Given the description of an element on the screen output the (x, y) to click on. 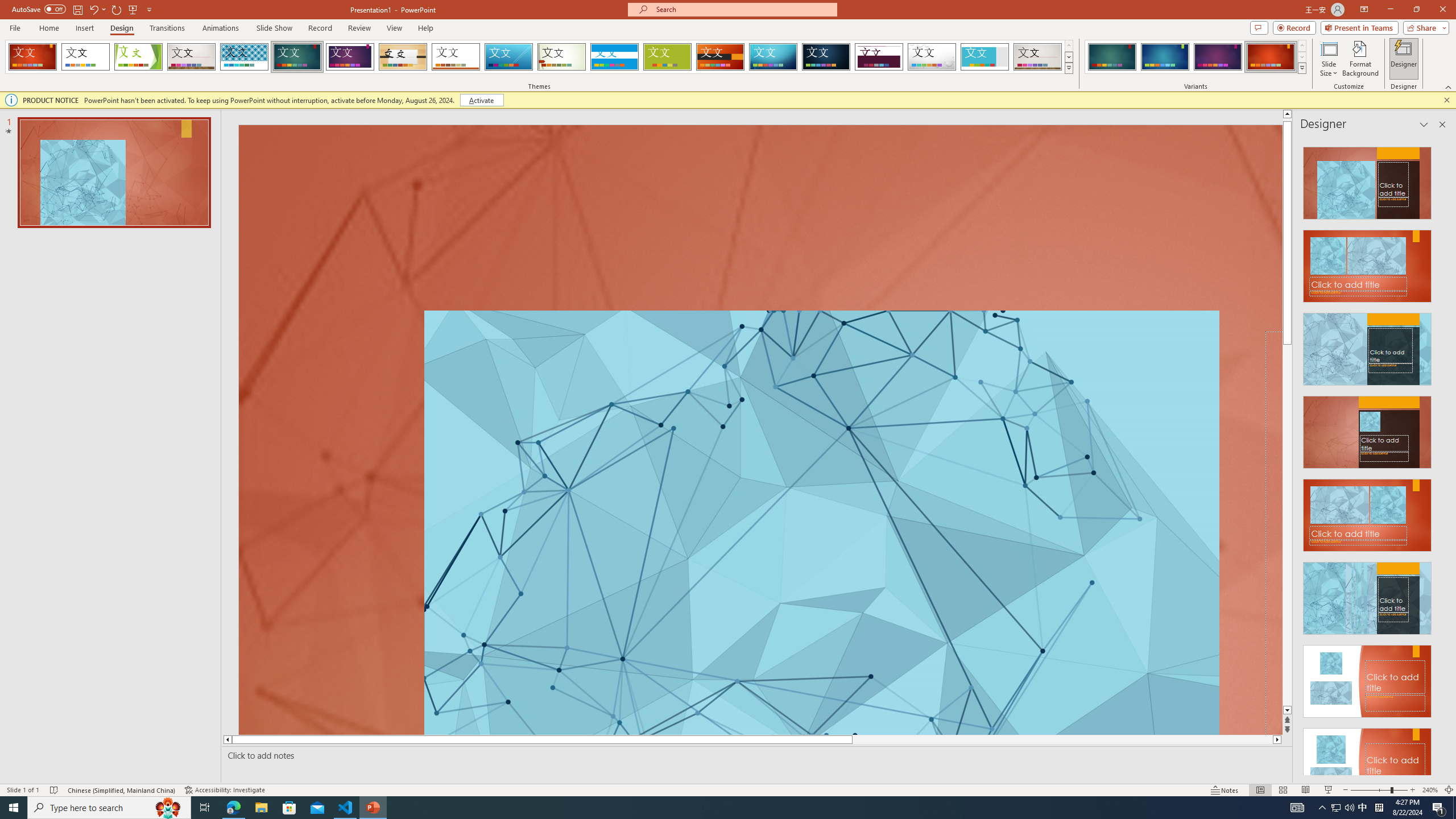
Ion (296, 56)
Slide Notes (754, 755)
Variants (1301, 67)
Recommended Design: Design Idea (1366, 179)
Damask (826, 56)
Slide Size (1328, 58)
Gallery (1037, 56)
Ion Variant 2 (1164, 56)
Title TextBox (1273, 532)
